Given the description of an element on the screen output the (x, y) to click on. 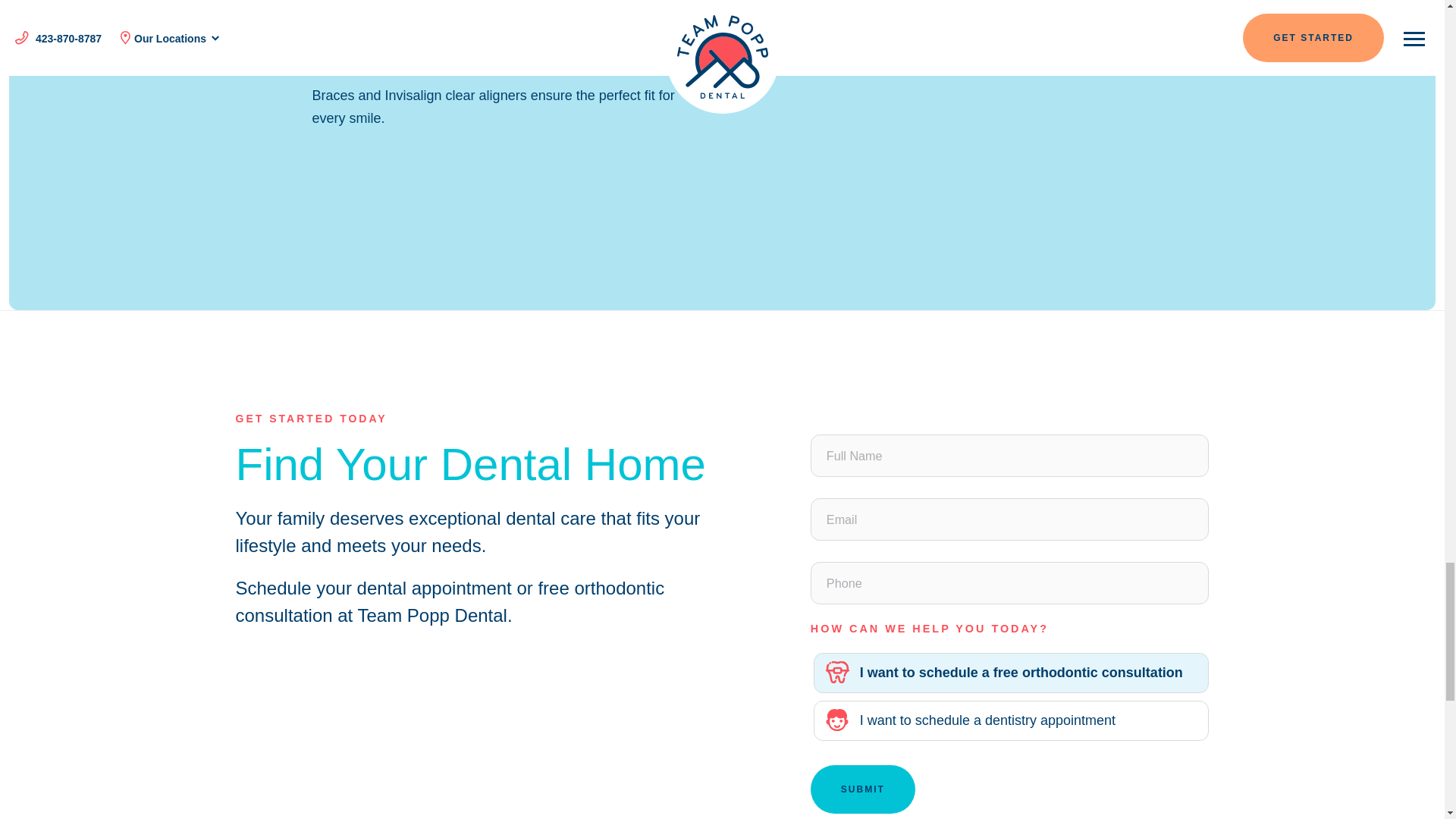
Submit (862, 789)
